Given the description of an element on the screen output the (x, y) to click on. 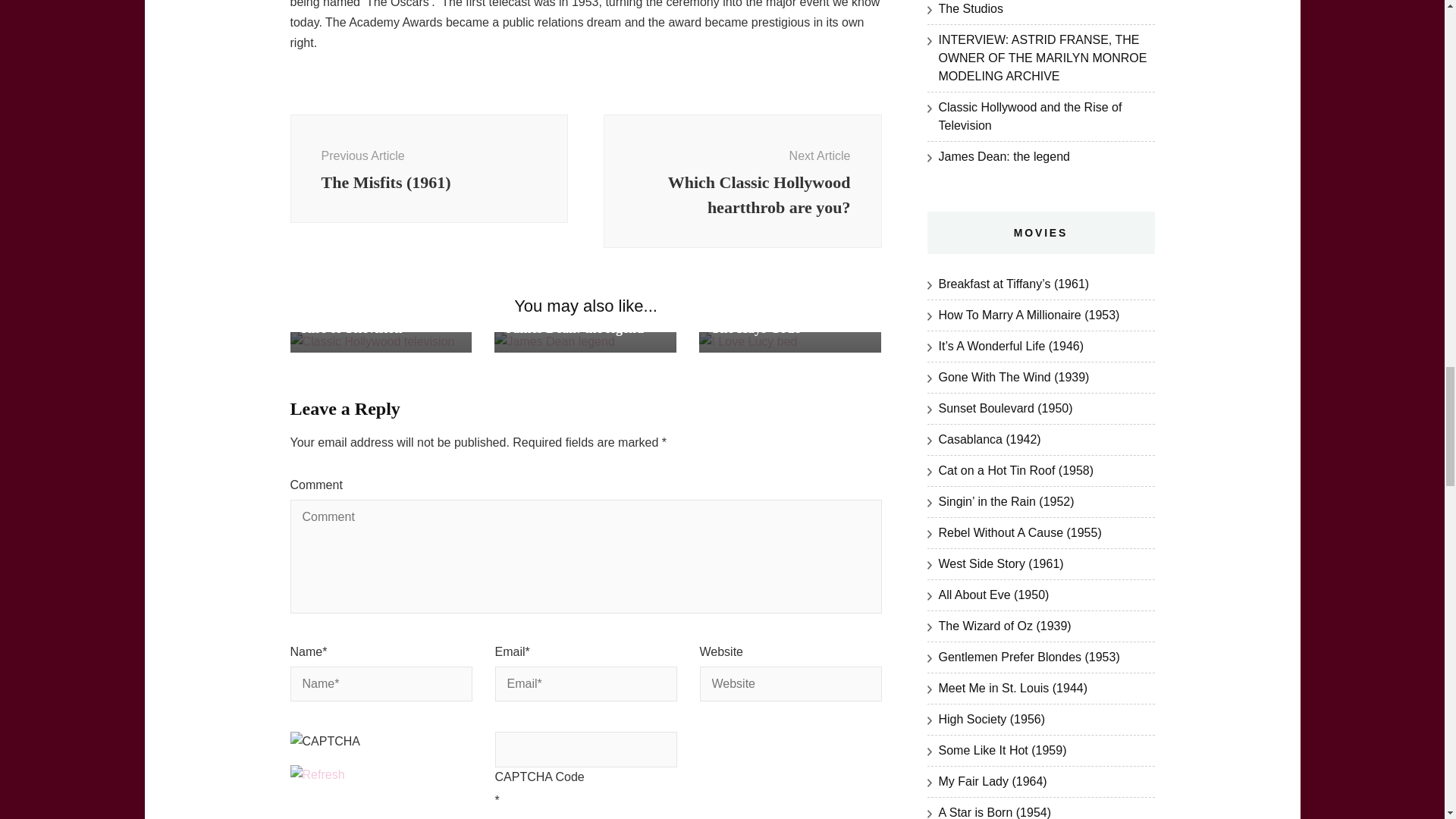
CAPTCHA (743, 181)
Classic Hollywood and the Rise of Television (339, 748)
Refresh (379, 318)
James Dean: the legend (316, 774)
